Given the description of an element on the screen output the (x, y) to click on. 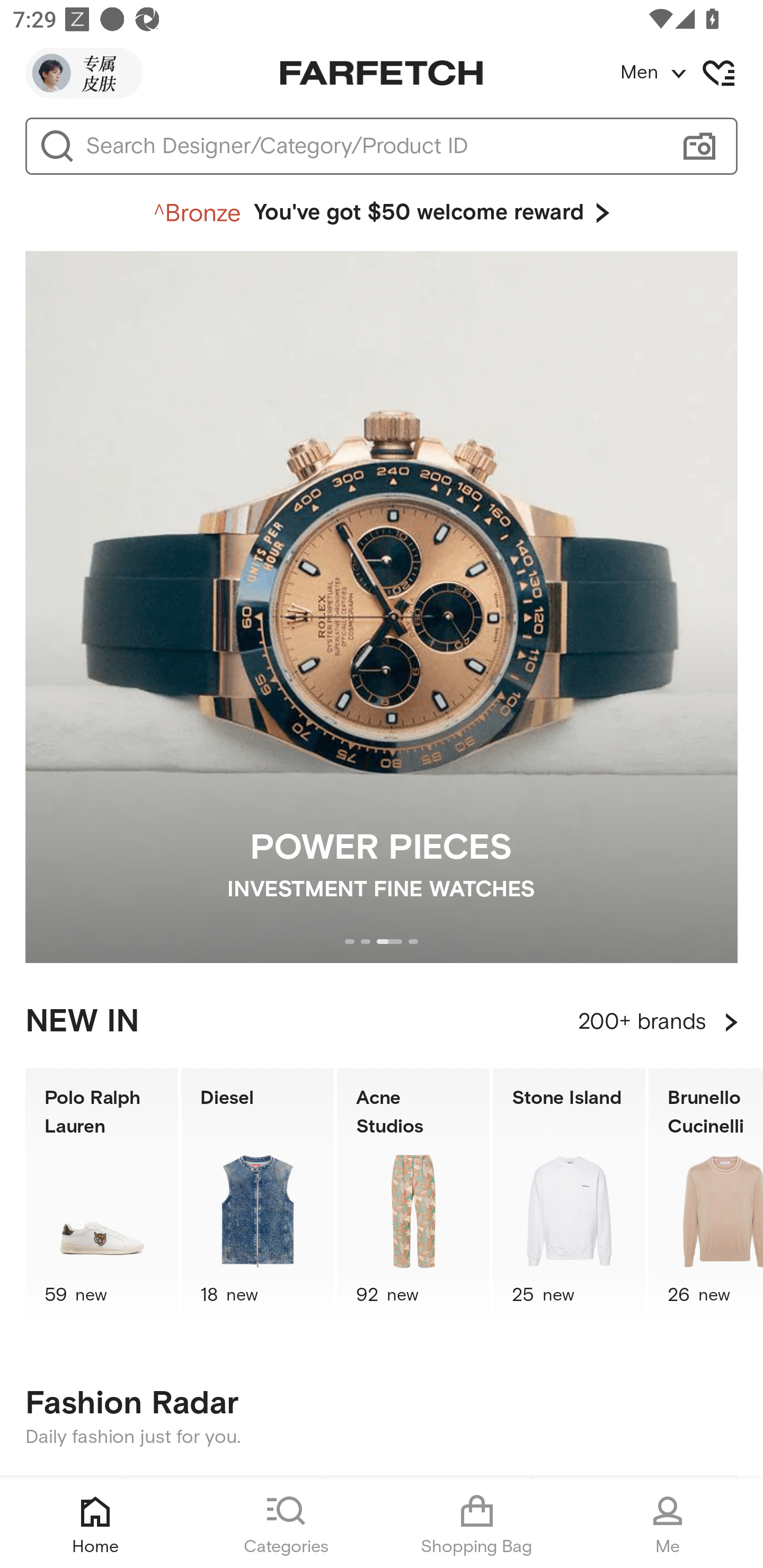
Men (691, 72)
Search Designer/Category/Product ID (373, 146)
You've got $50 welcome reward (381, 213)
NEW IN 200+ brands (381, 1021)
Polo Ralph Lauren 59  new (101, 1196)
Diesel 18  new (257, 1196)
Acne Studios 92  new (413, 1196)
Stone Island 25  new (568, 1196)
Brunello Cucinelli 26  new (705, 1196)
Categories (285, 1523)
Shopping Bag (476, 1523)
Me (667, 1523)
